Given the description of an element on the screen output the (x, y) to click on. 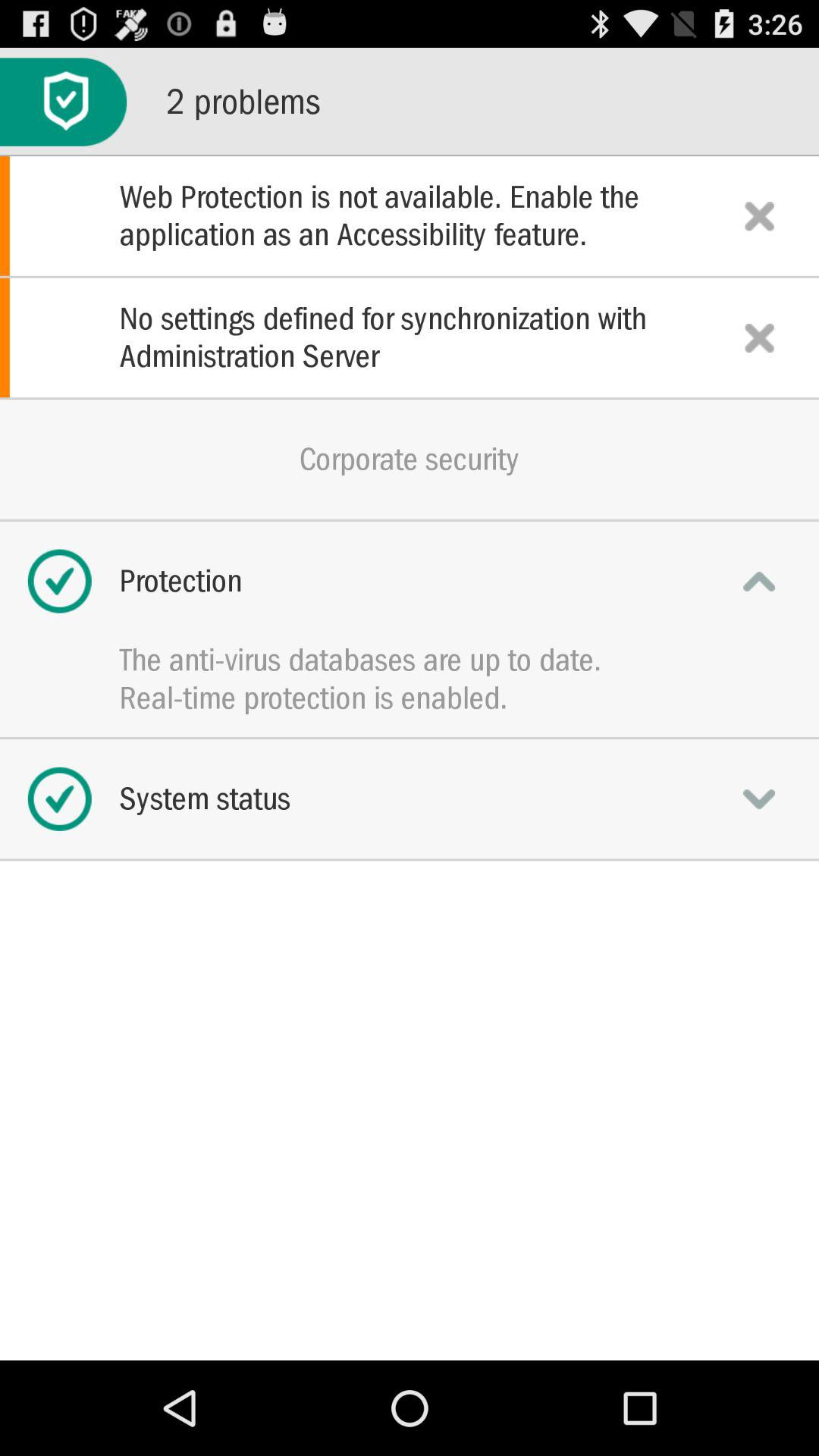
press the app above the real time protection item (409, 659)
